Given the description of an element on the screen output the (x, y) to click on. 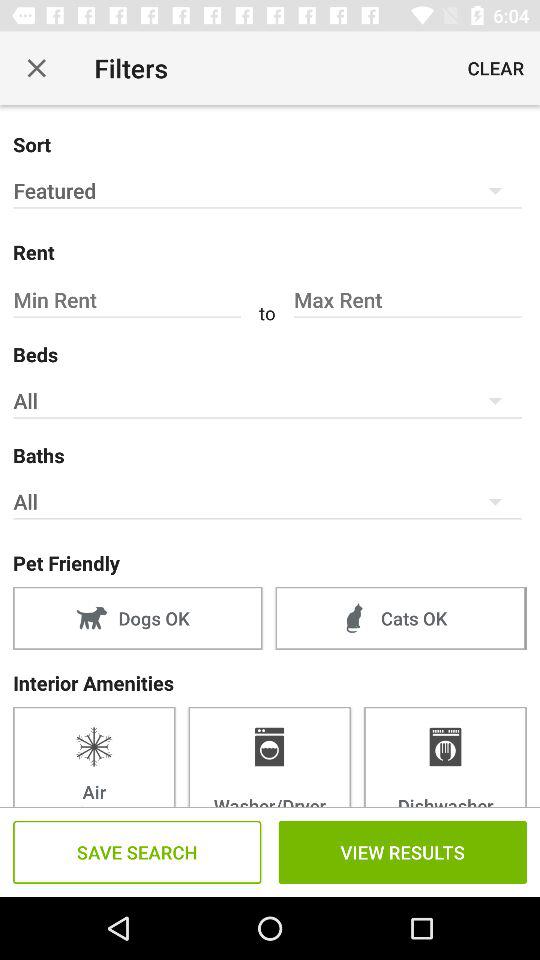
swipe until the dishwasher item (445, 756)
